Given the description of an element on the screen output the (x, y) to click on. 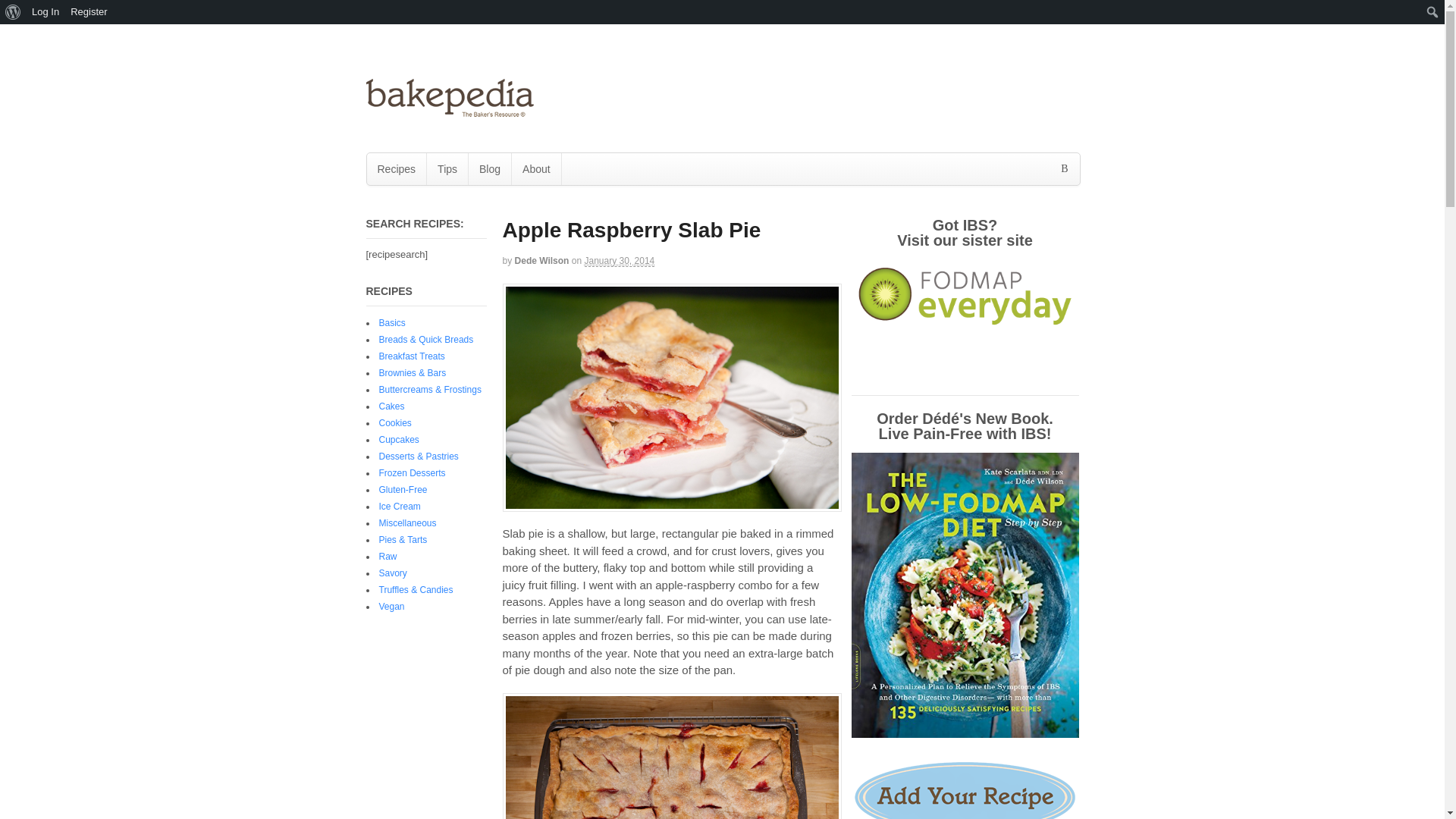
Cakes (391, 406)
Basics (392, 322)
apple raspberry slab pie top view (672, 755)
The Baker's Resource (448, 110)
apple raspberry slab pie (672, 397)
Dede Wilson (542, 260)
Cookies (395, 422)
2014-01-30T08:00:26-0500 (618, 260)
About (536, 169)
Tips (446, 169)
Cupcakes (398, 439)
Frozen Desserts (411, 472)
Breakfast Treats (411, 356)
Gluten-Free (403, 489)
Posts by Dede Wilson (542, 260)
